Given the description of an element on the screen output the (x, y) to click on. 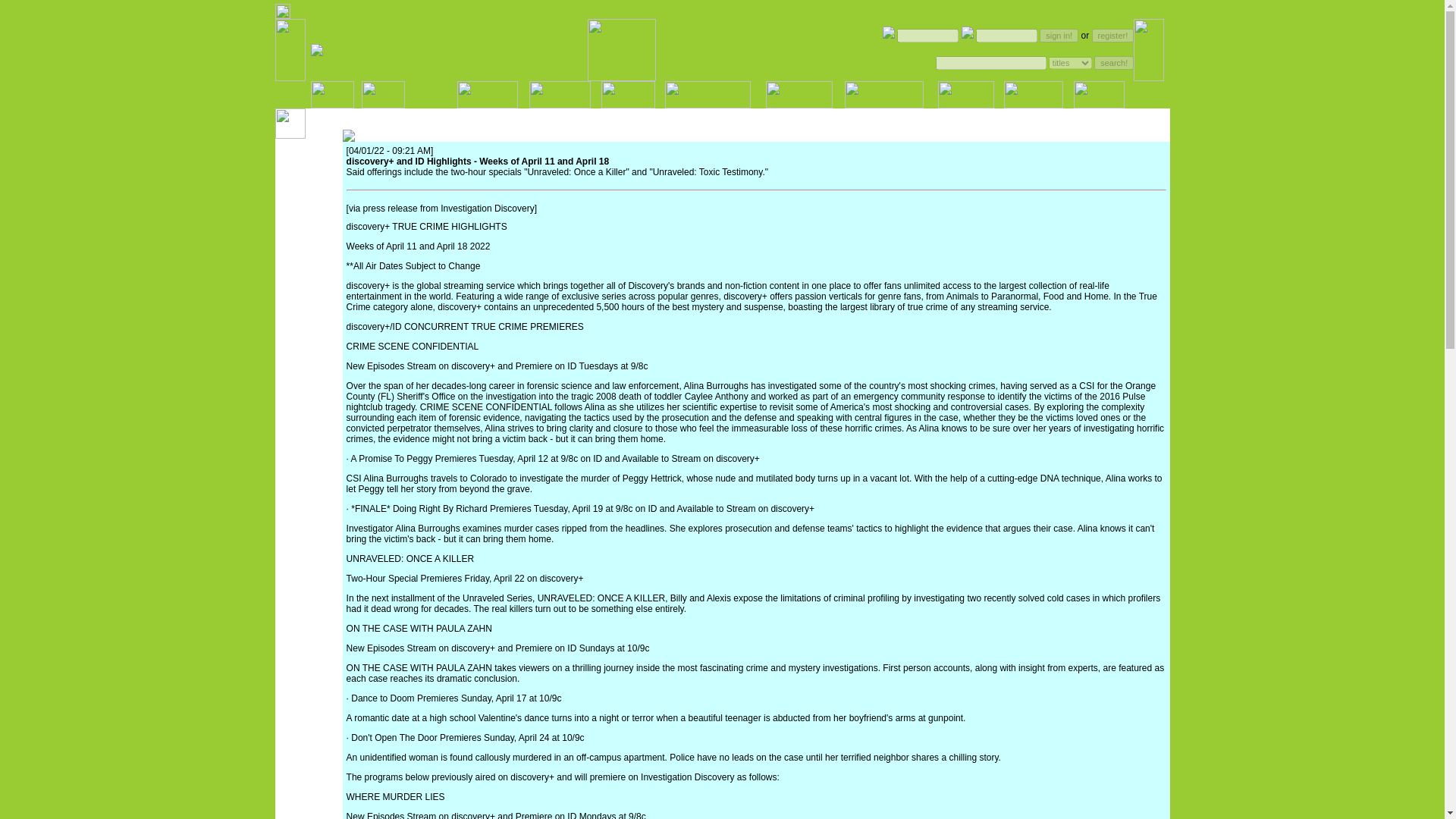
search! (1114, 62)
sign in! (1058, 35)
register! (1113, 35)
search! (1114, 62)
sign in! (1058, 35)
